Given the description of an element on the screen output the (x, y) to click on. 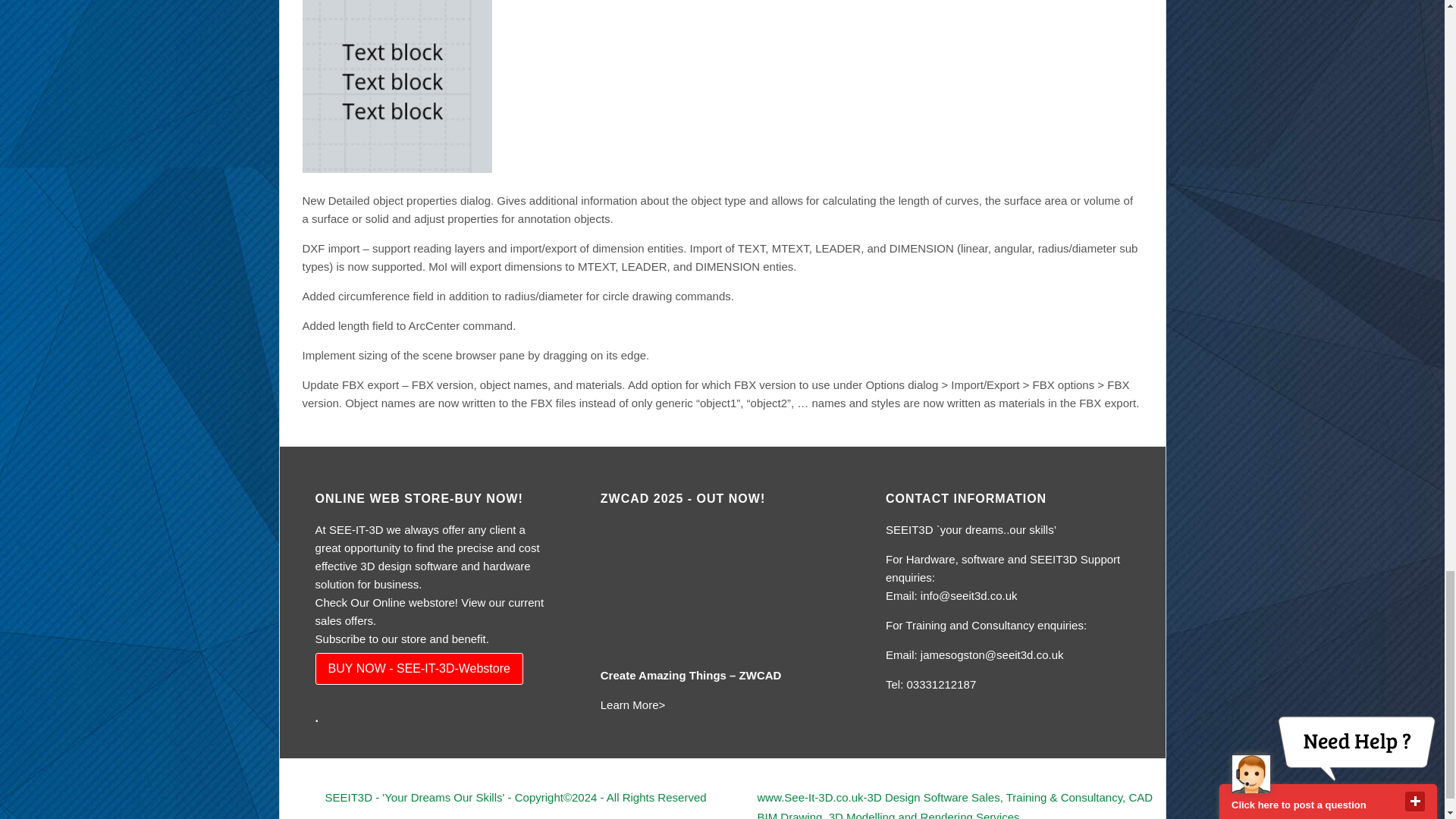
YouTube video player (713, 567)
